Given the description of an element on the screen output the (x, y) to click on. 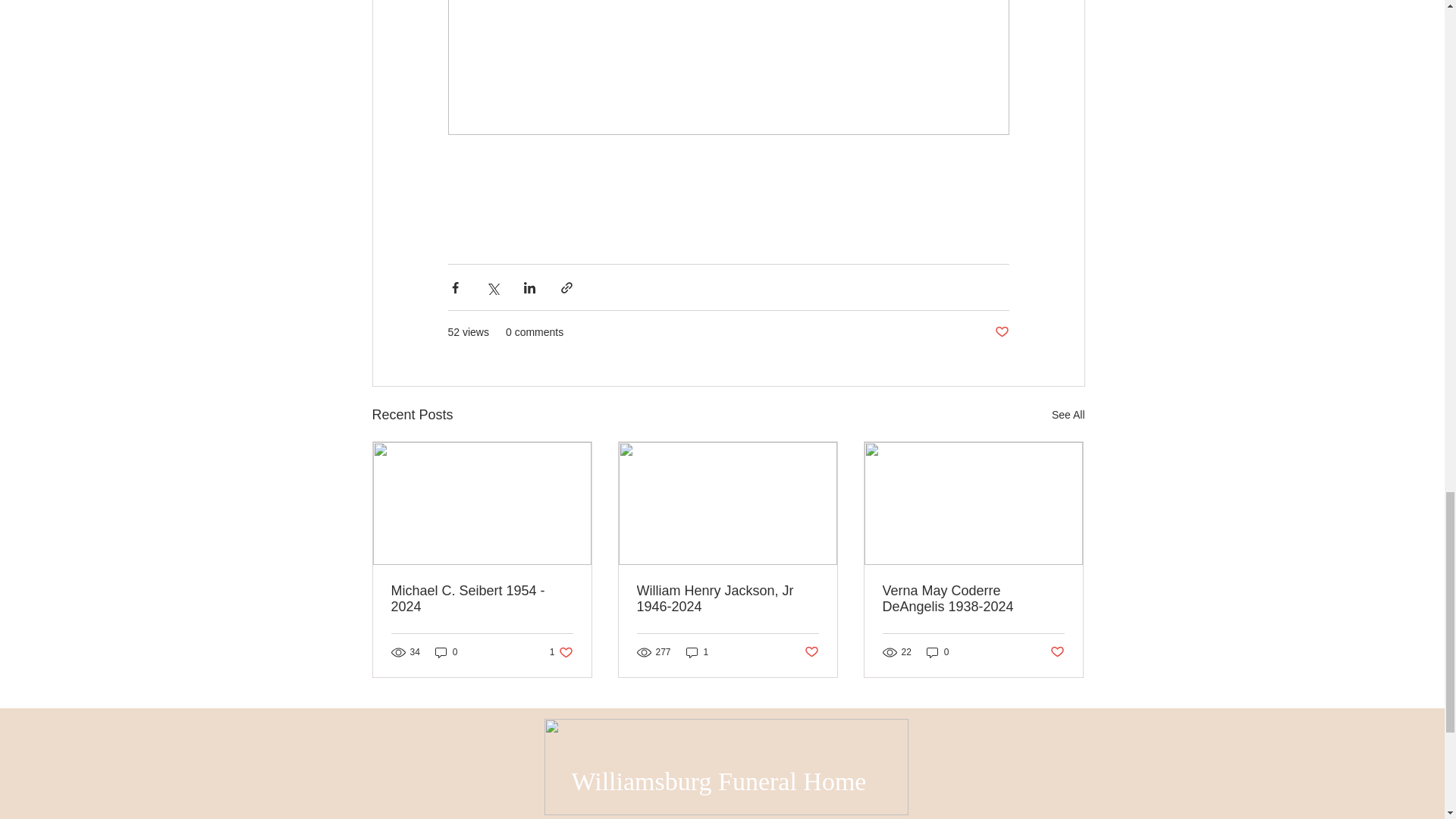
0 (937, 652)
1 (697, 652)
See All (1067, 414)
Post not marked as liked (1056, 652)
Post not marked as liked (810, 652)
Post not marked as liked (1001, 332)
Michael C. Seibert 1954 - 2024 (482, 599)
William Henry Jackson, Jr 1946-2024 (727, 599)
Verna May Coderre DeAngelis 1938-2024 (973, 599)
0 (446, 652)
